Given the description of an element on the screen output the (x, y) to click on. 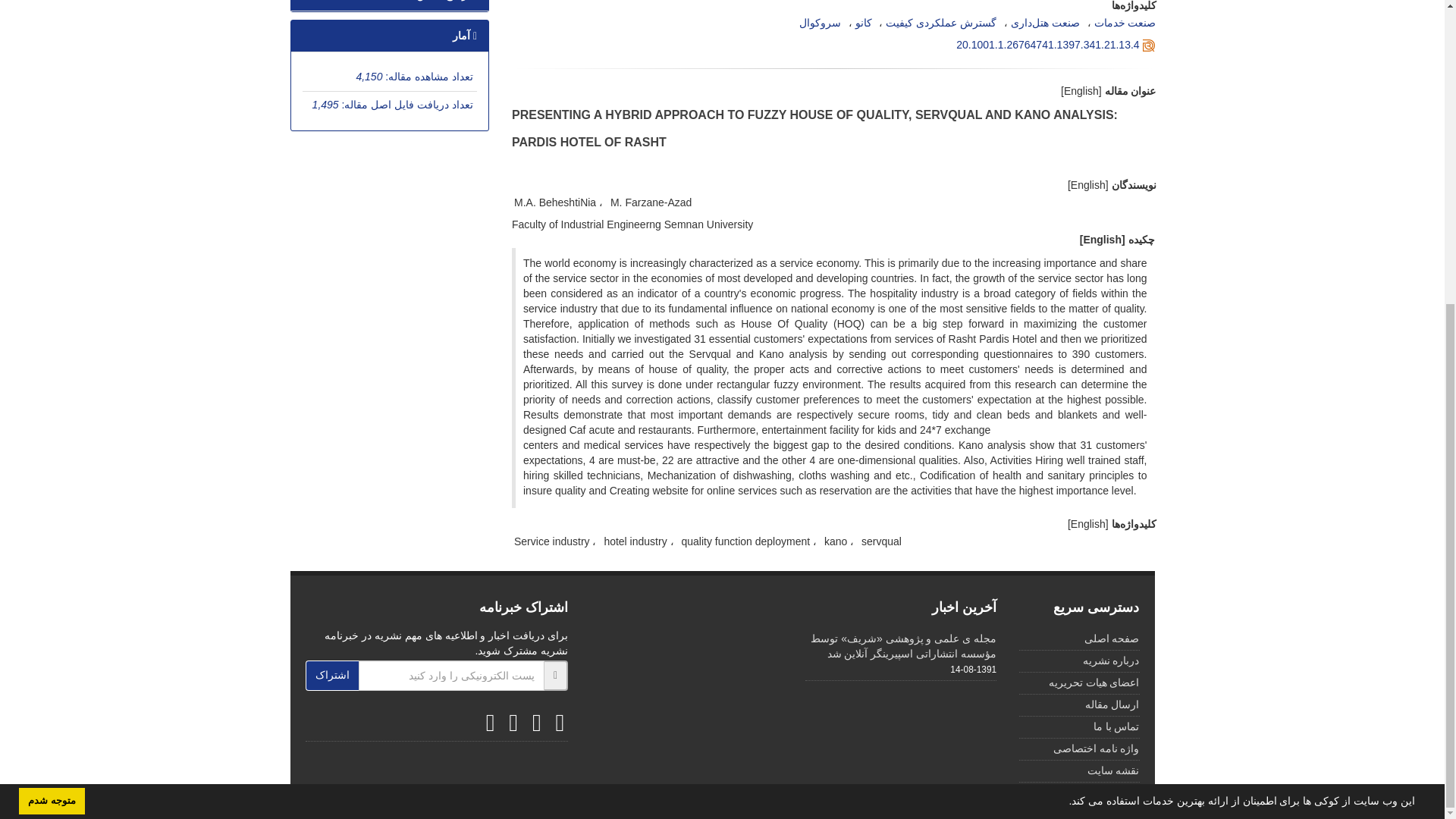
DOR (1047, 44)
